Given the description of an element on the screen output the (x, y) to click on. 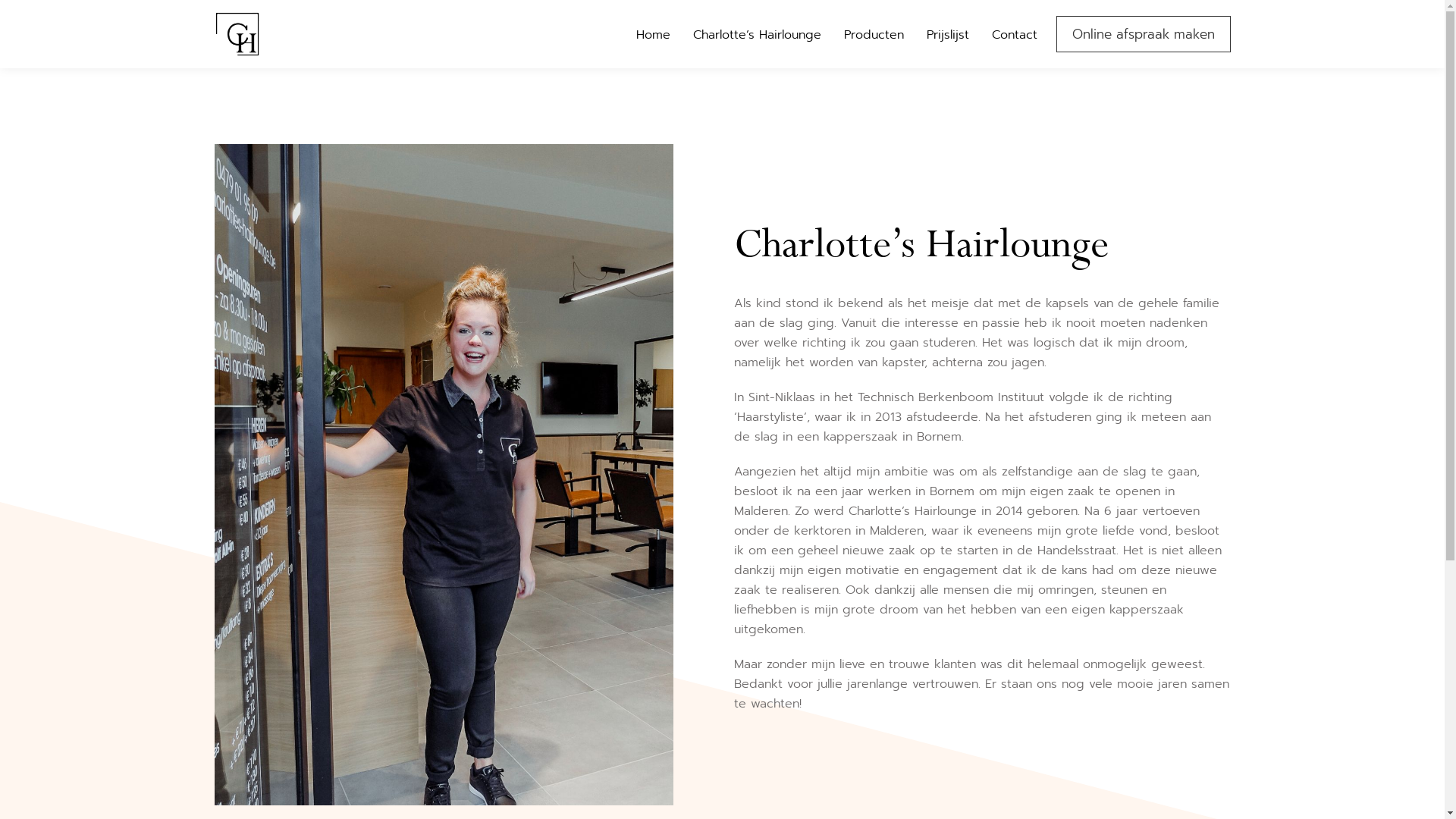
Producten Element type: text (873, 34)
Prijslijst Element type: text (947, 34)
Online afspraak maken Element type: text (1142, 33)
Home Element type: text (652, 34)
Contact Element type: text (1014, 34)
